Given the description of an element on the screen output the (x, y) to click on. 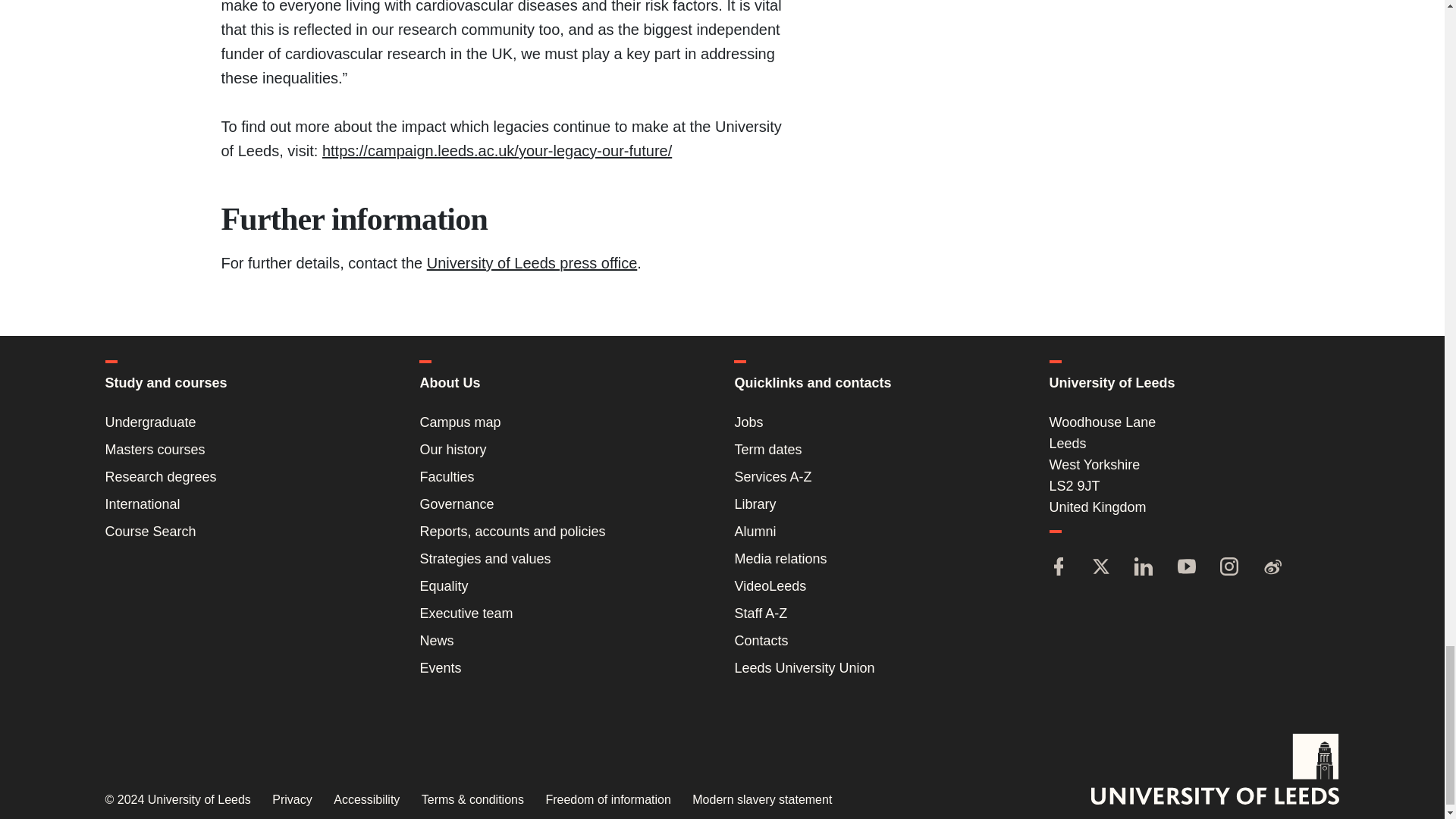
Go to Accessibility page (365, 799)
Go to Privacy page (291, 799)
Go to Modern slavery statement page (762, 799)
Go to Freedom of information page (606, 799)
